Given the description of an element on the screen output the (x, y) to click on. 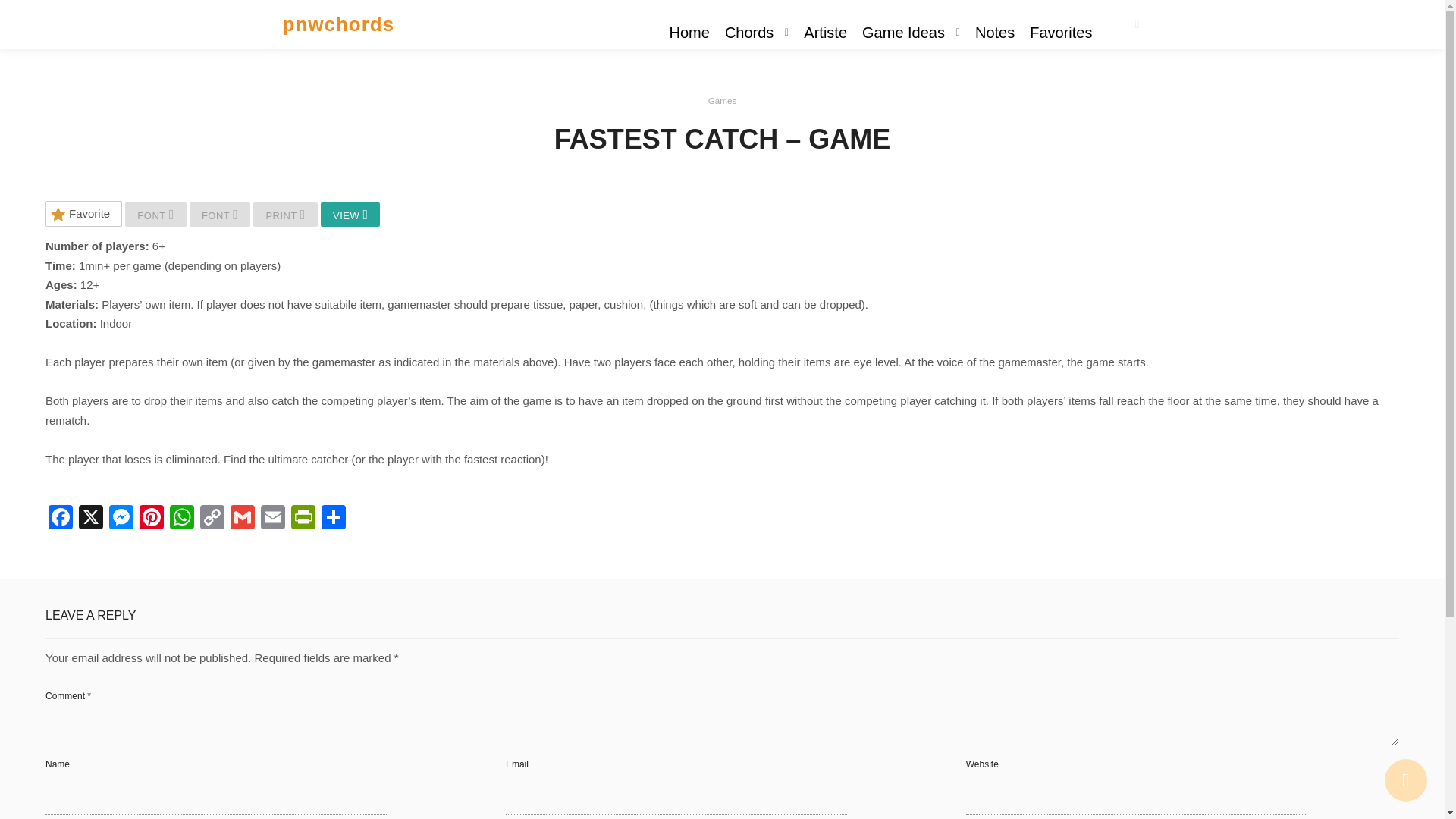
Messenger (121, 519)
Artiste (825, 32)
pnwchords (338, 23)
X (90, 519)
PrintFriendly (303, 519)
More info (1137, 24)
Share (333, 519)
Messenger (121, 519)
Gmail (242, 519)
Home (689, 32)
X (90, 519)
Chords (746, 32)
PRINT (285, 214)
Game Ideas (900, 32)
More info (1137, 24)
